Given the description of an element on the screen output the (x, y) to click on. 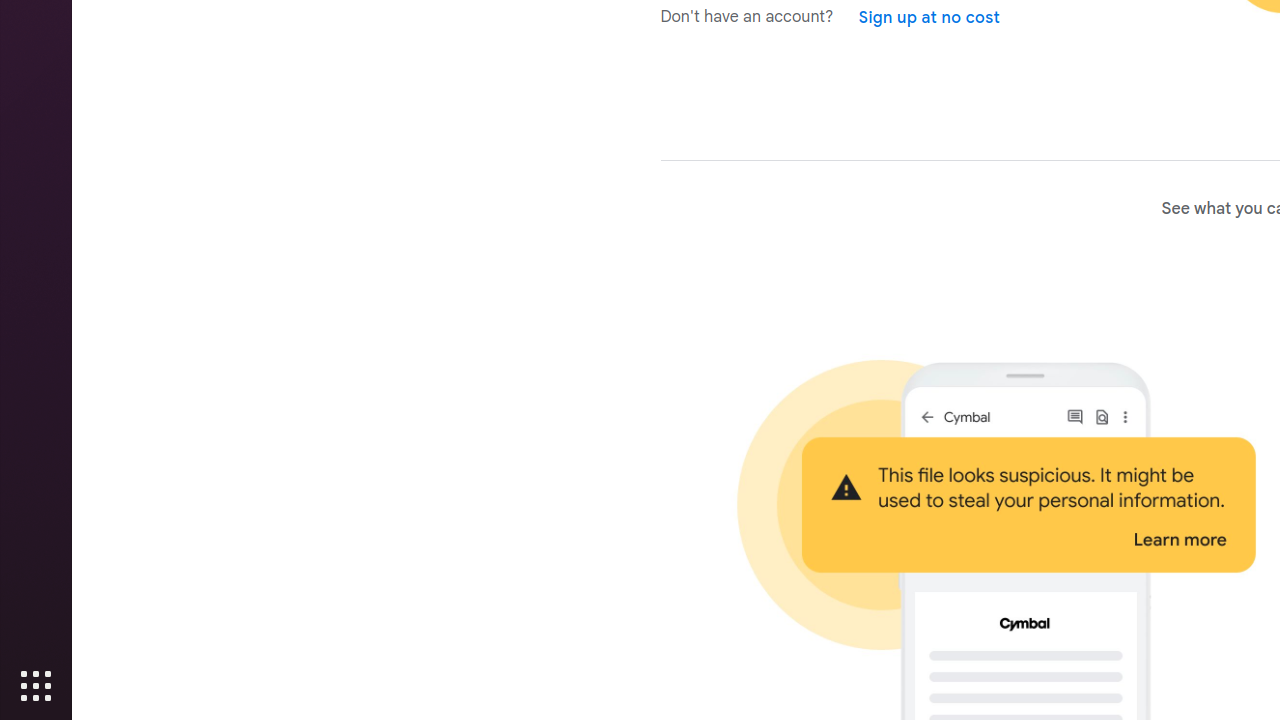
Show Applications Element type: toggle-button (36, 686)
